Given the description of an element on the screen output the (x, y) to click on. 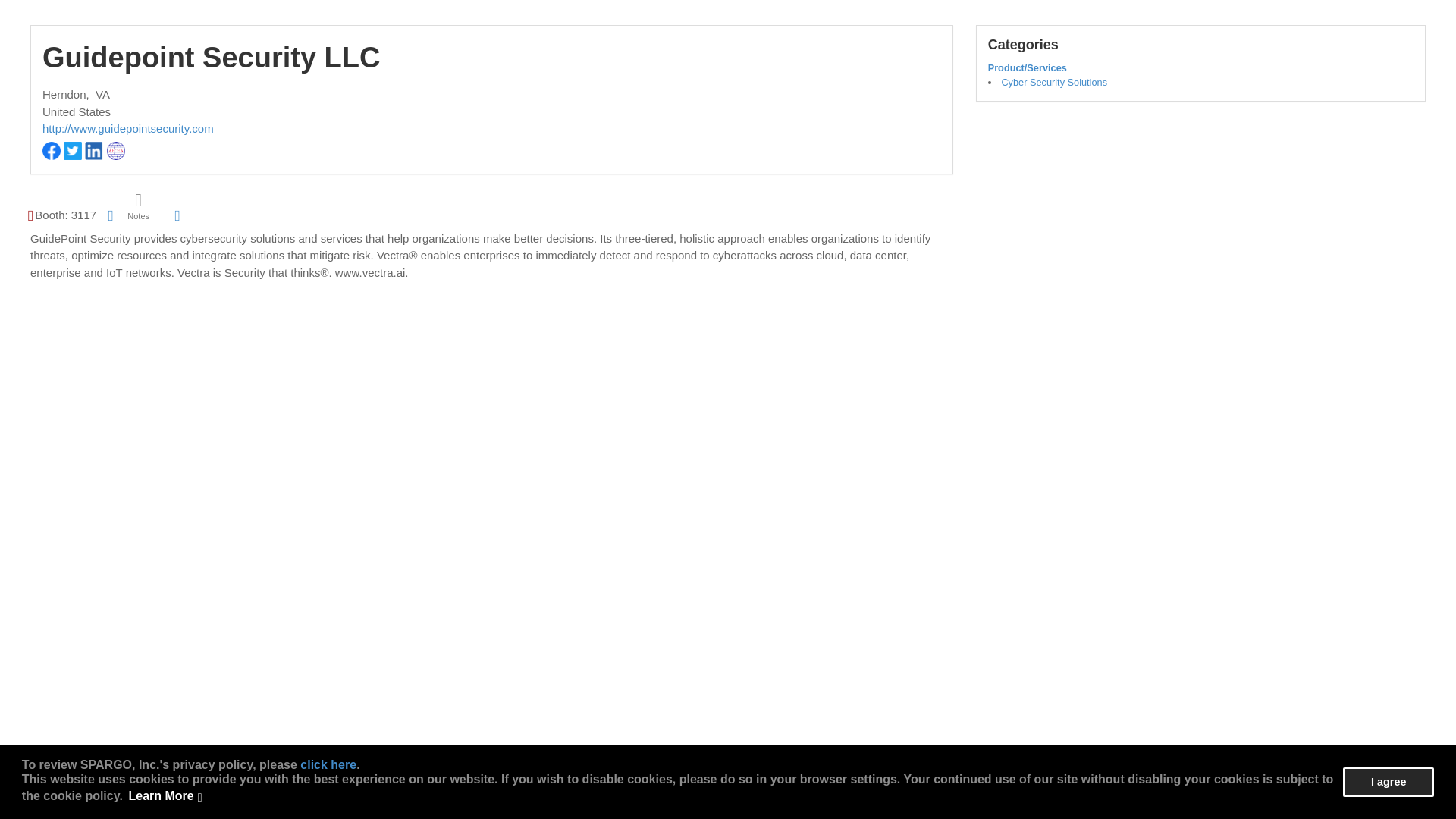
Print (110, 214)
Add To My Exhibitors (177, 215)
Cyber Security Solutions (1053, 81)
